Given the description of an element on the screen output the (x, y) to click on. 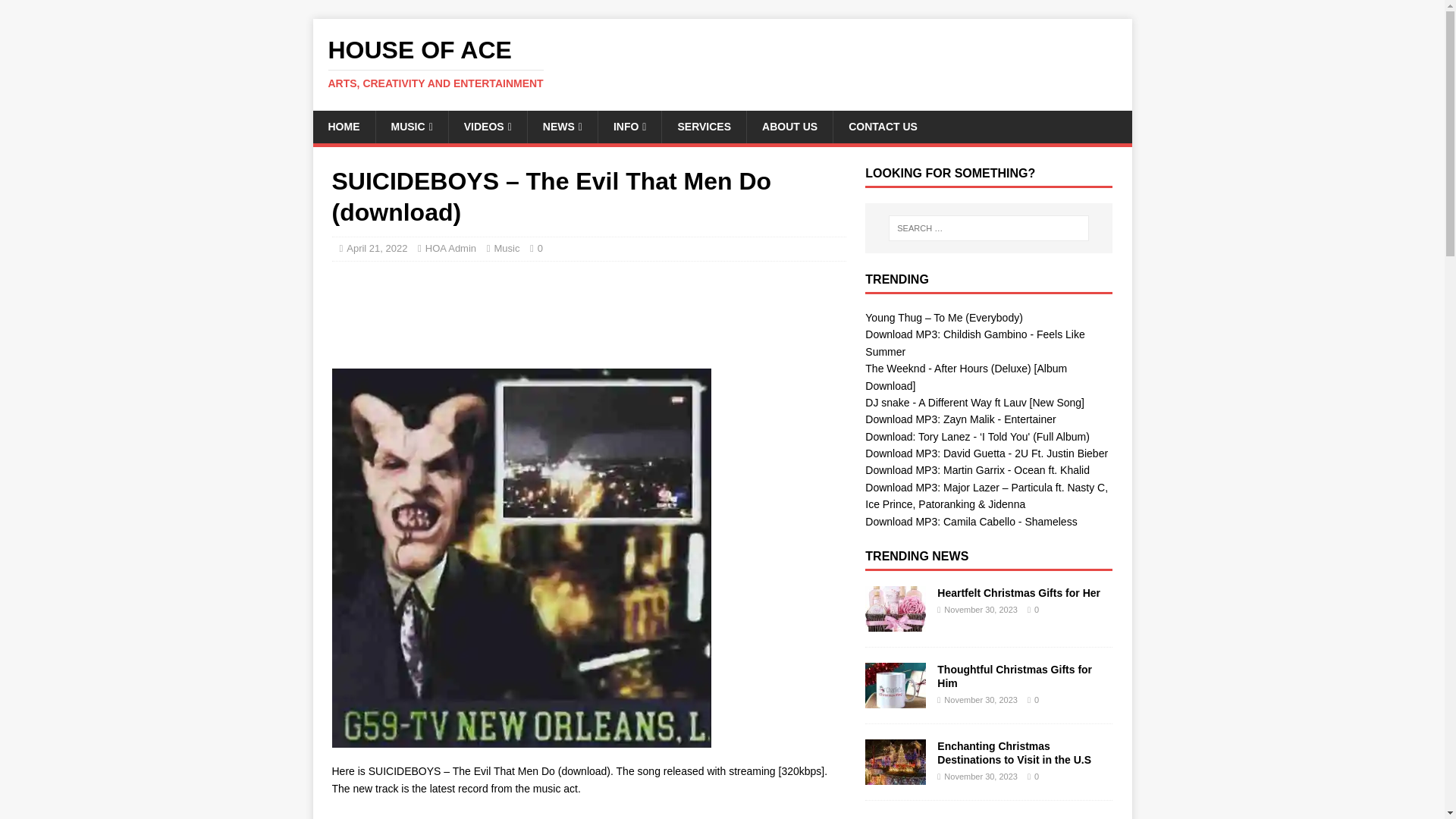
HOA Admin (450, 247)
MUSIC (410, 126)
SERVICES (703, 126)
Advertisement (721, 63)
April 21, 2022 (588, 815)
ABOUT US (376, 247)
NEWS (788, 126)
Advertisement (561, 126)
House Of Ace (607, 310)
CONTACT US (721, 63)
INFO (882, 126)
VIDEOS (629, 126)
HOME (487, 126)
Music (343, 126)
